Given the description of an element on the screen output the (x, y) to click on. 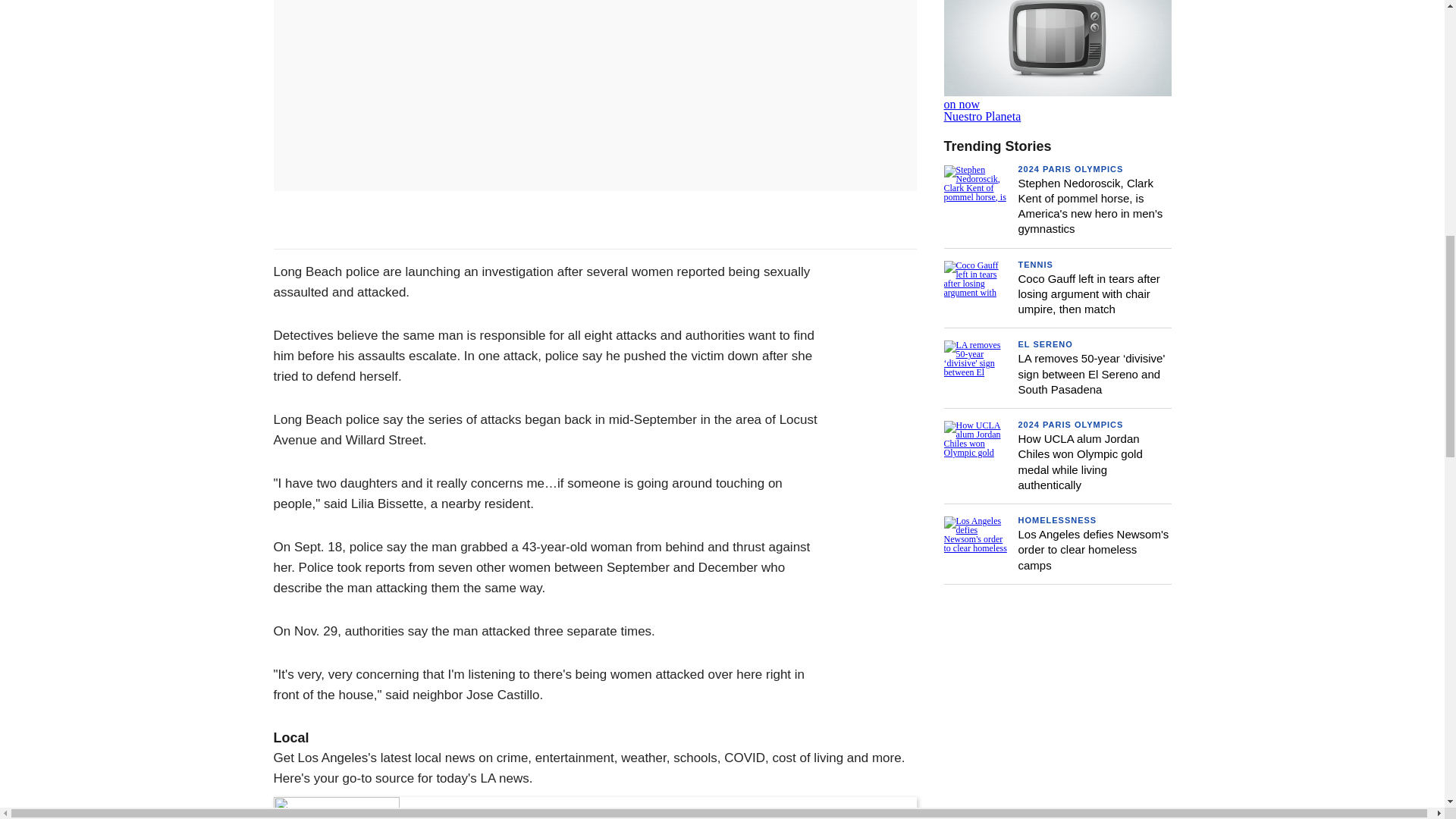
2024 PARIS OLYMPICS (1069, 168)
2024 PARIS OLYMPICS (1056, 61)
